Given the description of an element on the screen output the (x, y) to click on. 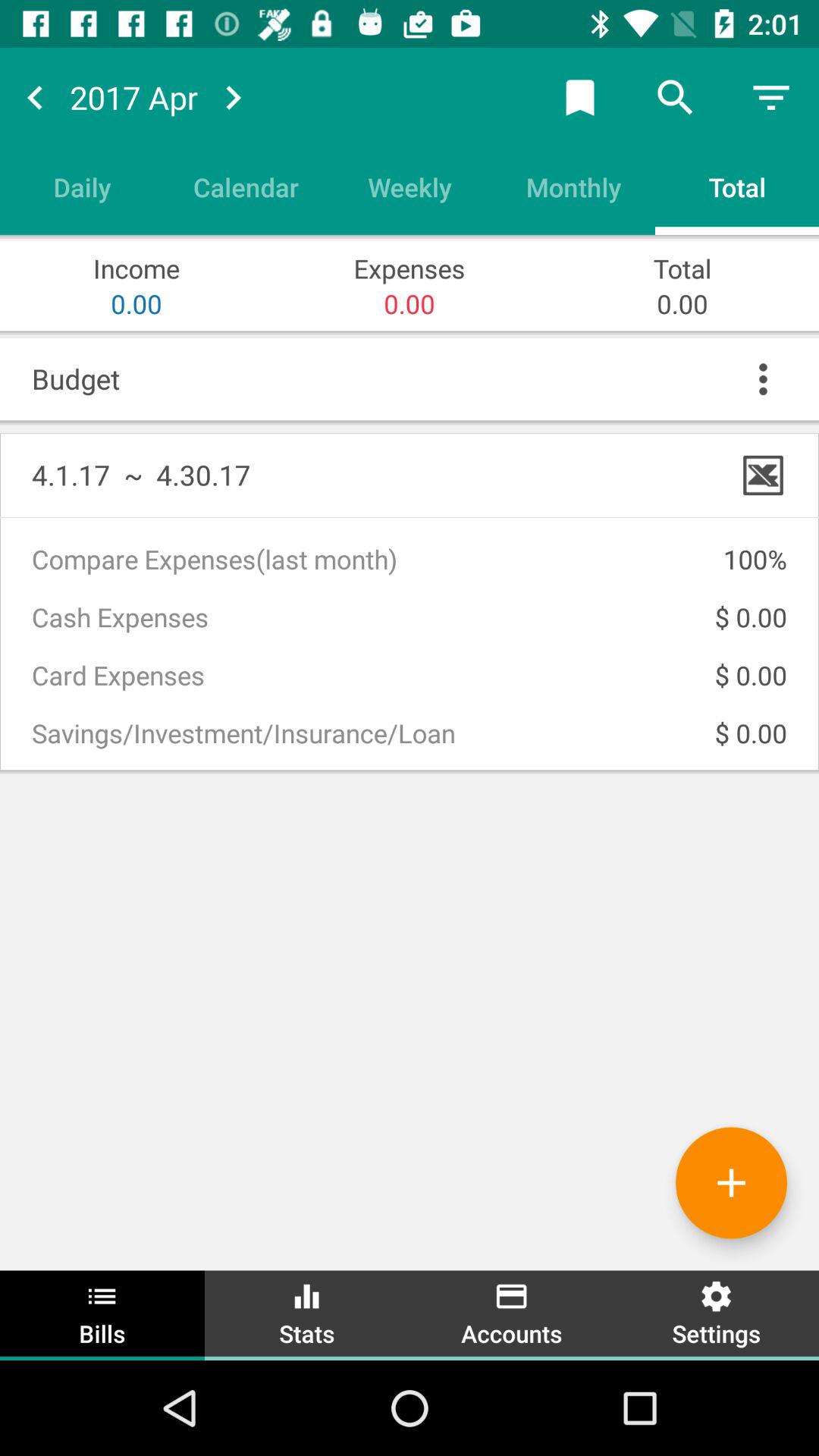
jump to the calendar item (245, 186)
